Given the description of an element on the screen output the (x, y) to click on. 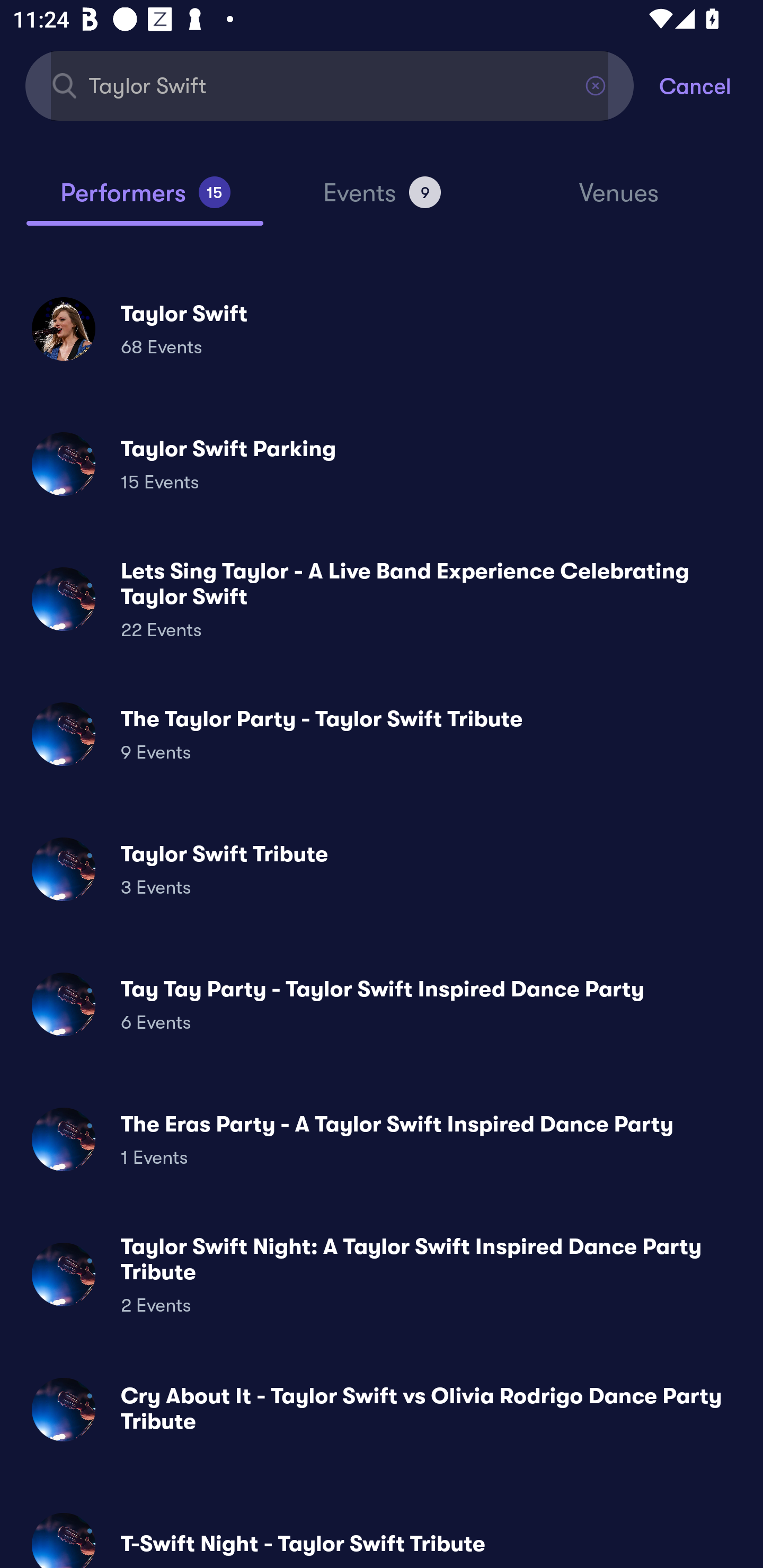
Taylor Swift Find (329, 85)
Taylor Swift Find (329, 85)
Cancel (711, 85)
Performers 15 (144, 200)
Events 9 (381, 200)
Venues (618, 201)
Taylor Swift 68 Events (381, 328)
Taylor Swift Parking 15 Events (381, 464)
The Taylor Party - Taylor Swift Tribute 9 Events (381, 734)
Taylor Swift Tribute 3 Events (381, 869)
T-Swift Night - Taylor Swift Tribute (381, 1532)
